Given the description of an element on the screen output the (x, y) to click on. 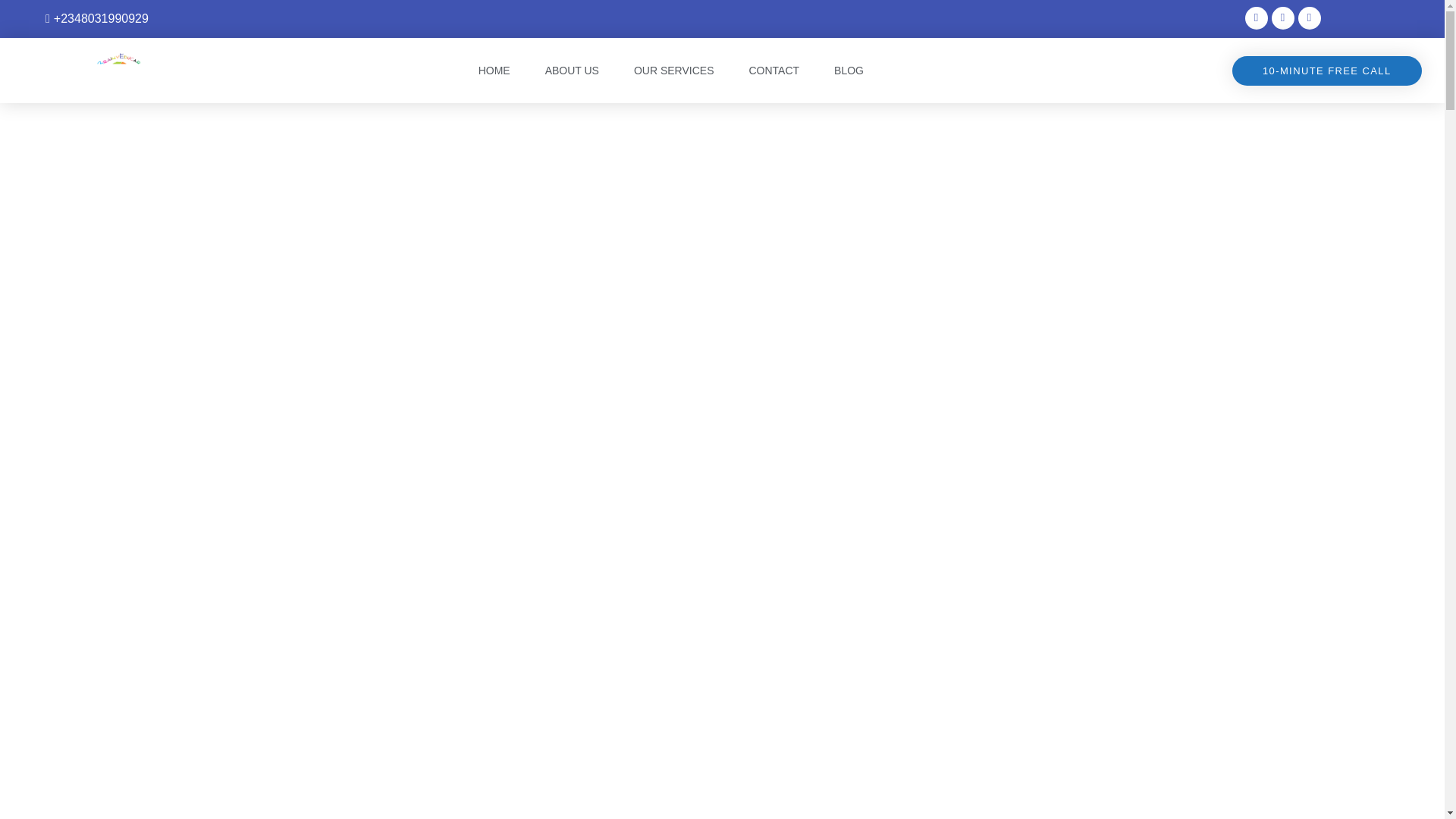
10-MINUTE FREE CALL (1326, 70)
HOME (494, 70)
Facebook (1309, 17)
CONTACT (773, 70)
ABOUT US (571, 70)
BLOG (848, 70)
Instagram (1256, 17)
OUR SERVICES (673, 70)
Linkedin (1282, 17)
